Given the description of an element on the screen output the (x, y) to click on. 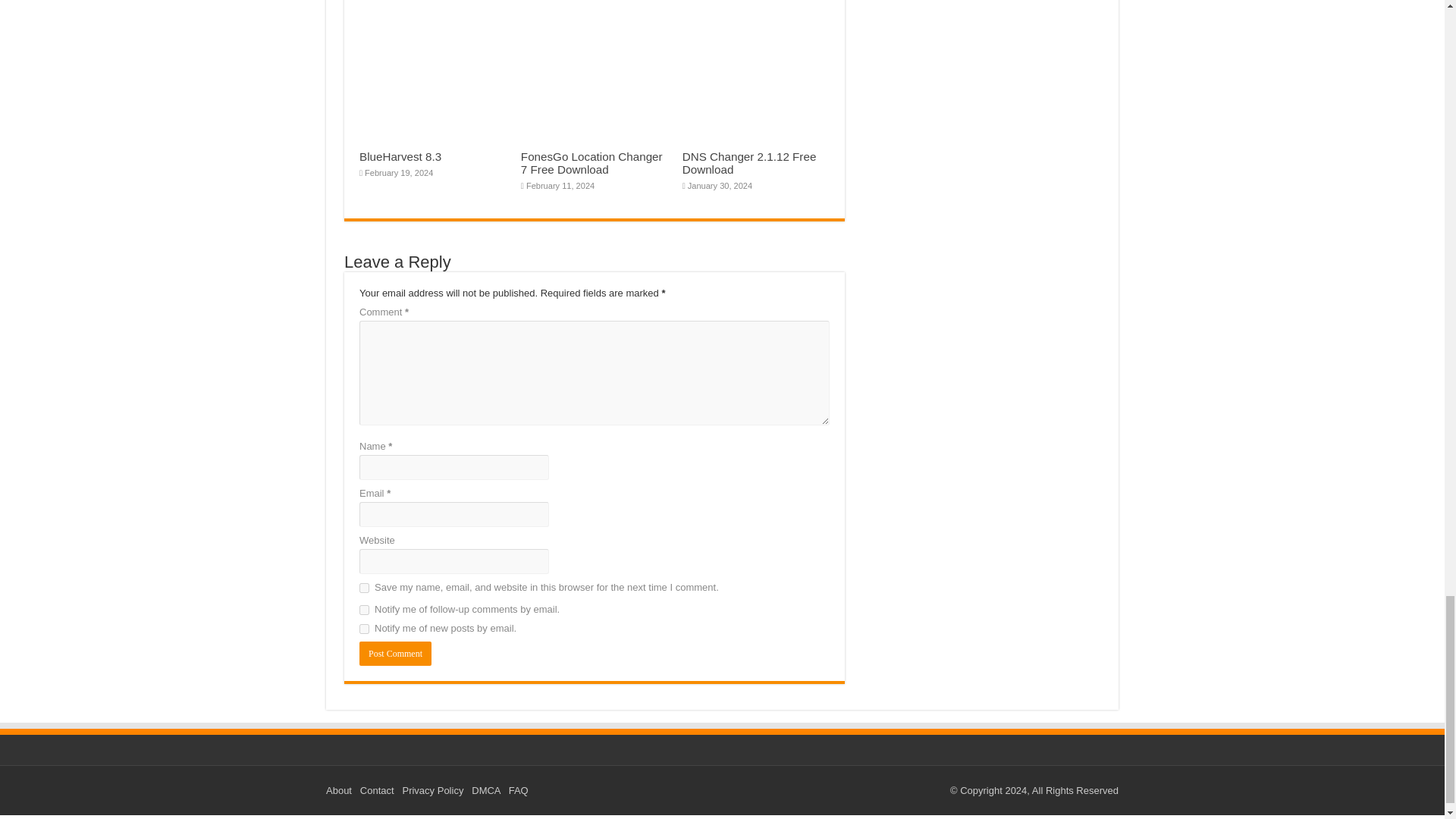
FonesGo Location Changer 7 Free Download (591, 162)
Post Comment (394, 653)
yes (364, 587)
BlueHarvest 8.3 (400, 155)
subscribe (364, 610)
subscribe (364, 628)
